Given the description of an element on the screen output the (x, y) to click on. 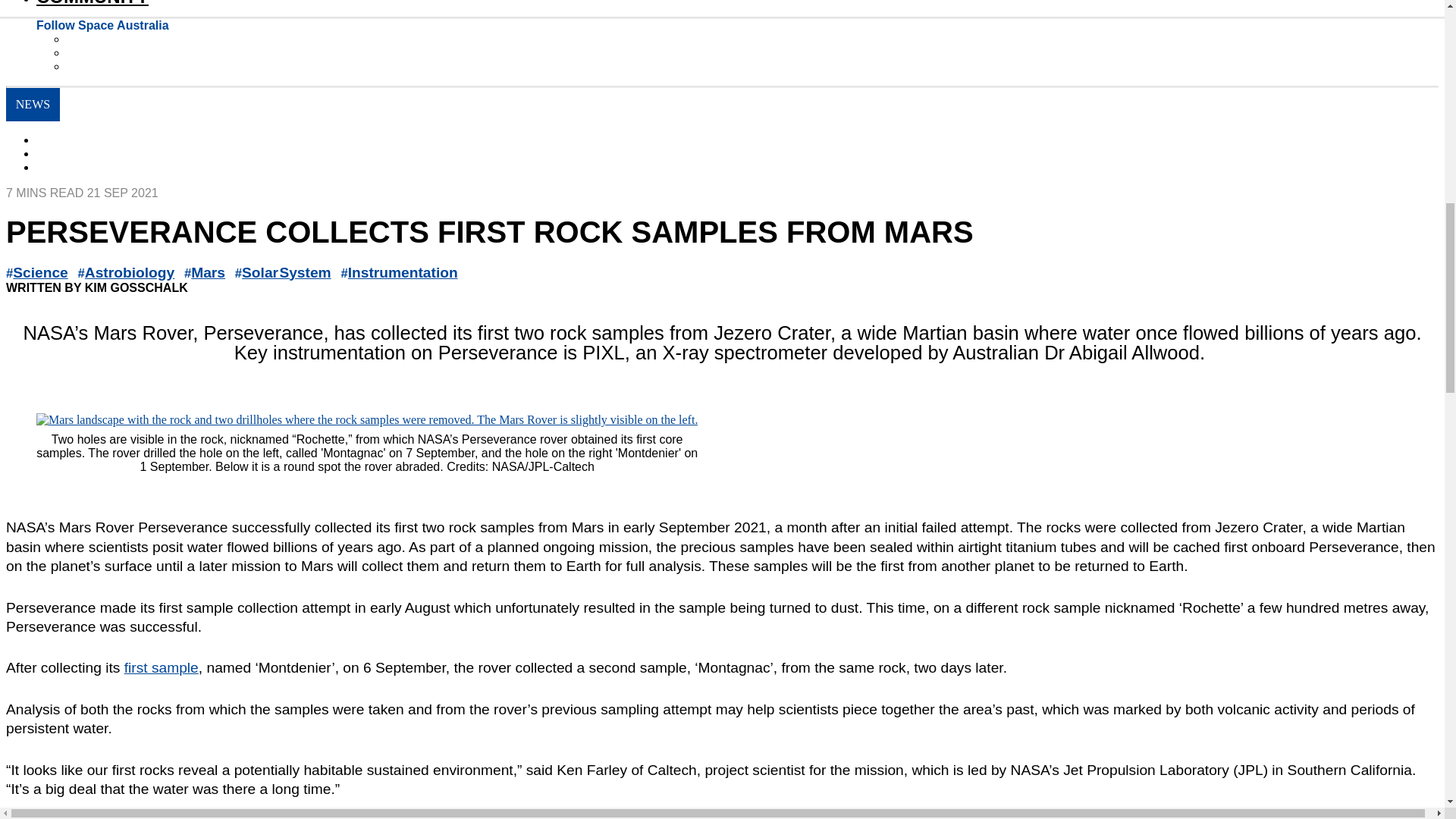
Science (40, 272)
Instrumentation (402, 272)
Solar System (286, 272)
Astrobiology (129, 272)
first sample (160, 667)
Mars (207, 272)
COMMUNITY (92, 3)
